Given the description of an element on the screen output the (x, y) to click on. 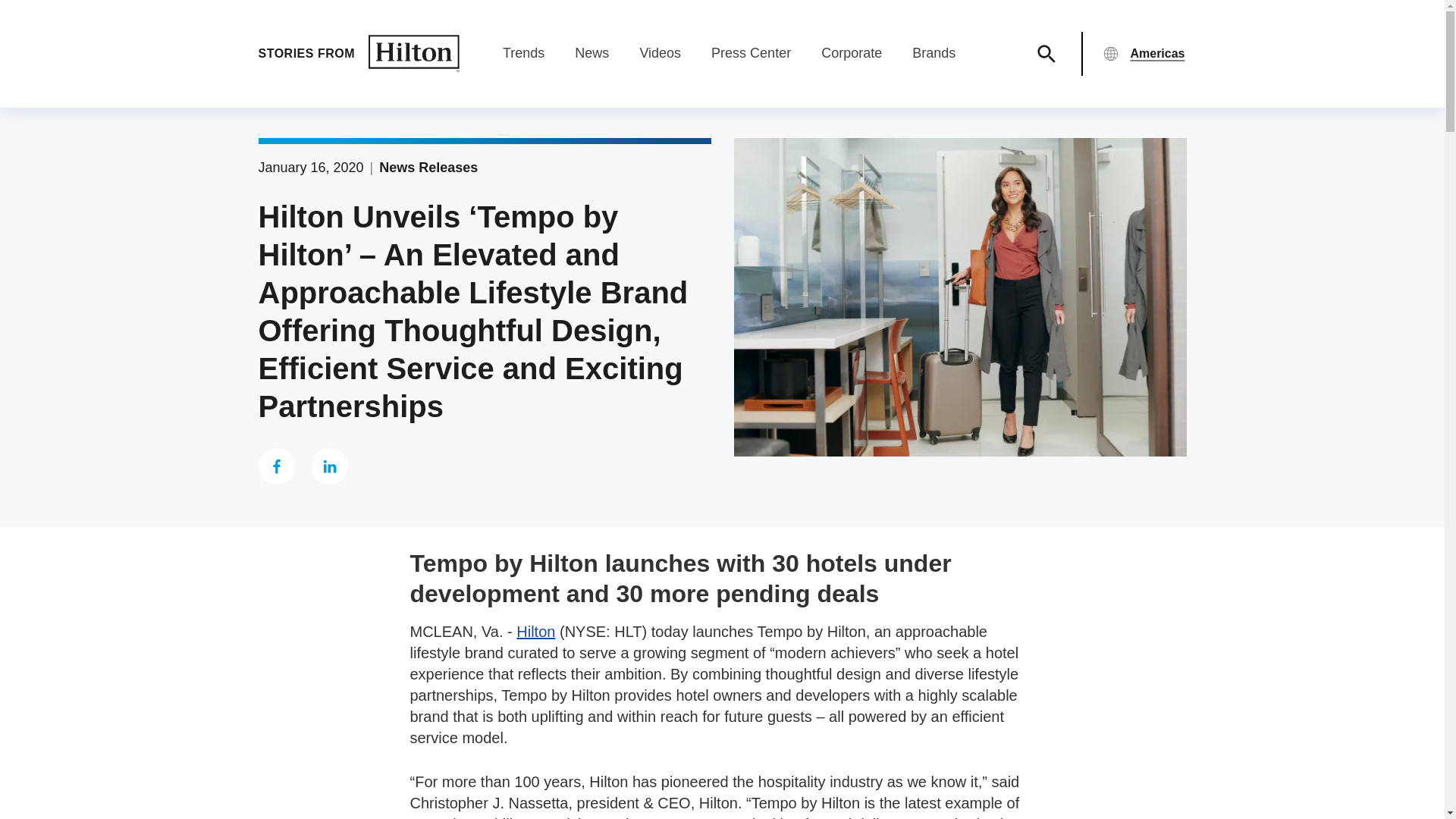
Trends (523, 53)
STORIES FROM (358, 53)
Videos (660, 53)
Stories From Hilton (358, 53)
Press Center (750, 53)
News (591, 53)
Corporate (851, 53)
